Given the description of an element on the screen output the (x, y) to click on. 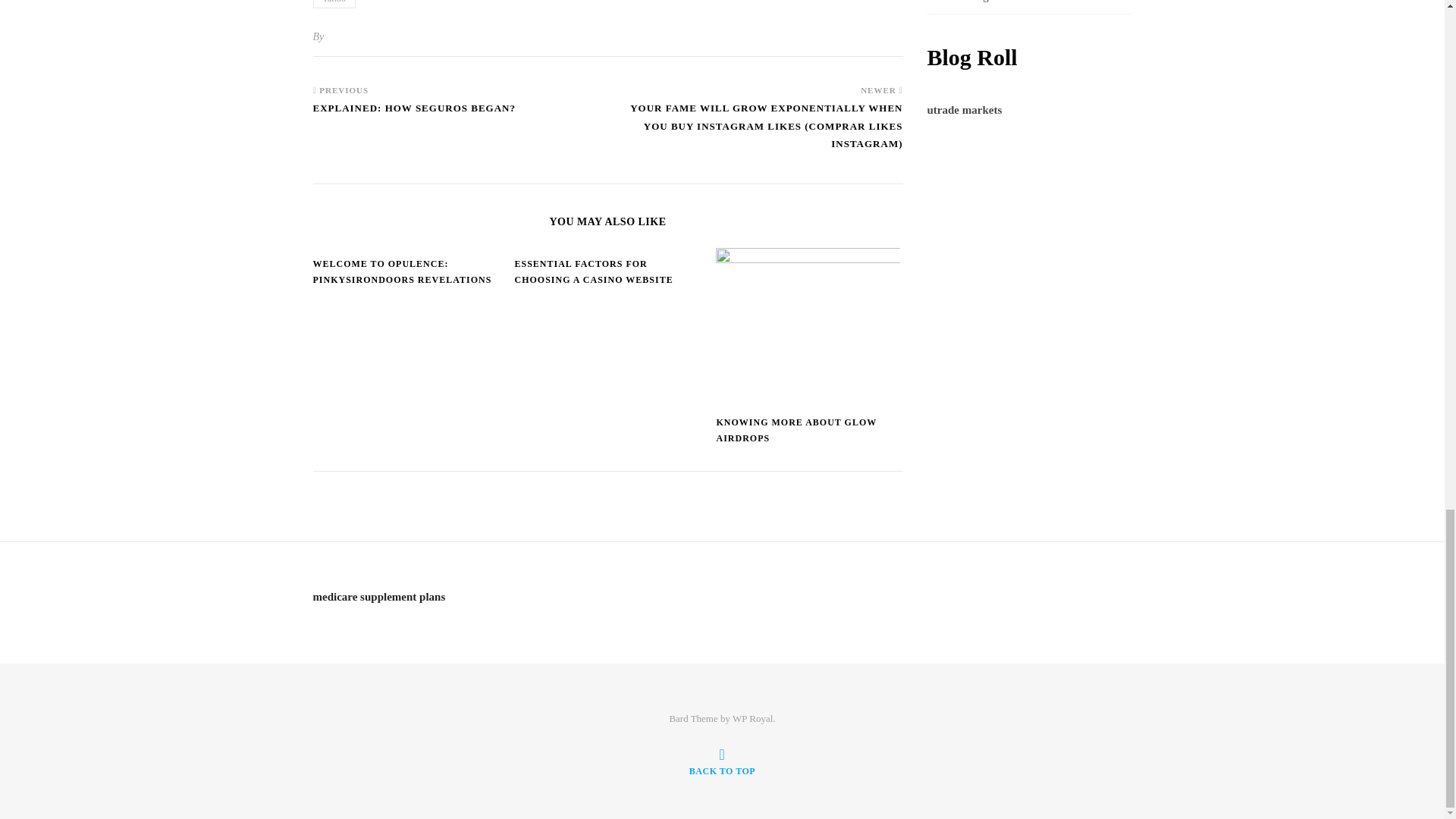
BACK TO TOP (722, 761)
KNOWING MORE ABOUT GLOW AIRDROPS (796, 429)
Tattoo (334, 4)
Explained: How Seguros Began? (414, 115)
ESSENTIAL FACTORS FOR CHOOSING A CASINO WEBSITE (592, 271)
EXPLAINED: HOW SEGUROS BEGAN? (414, 115)
WELCOME TO OPULENCE: PINKYSIRONDOORS REVELATIONS (402, 271)
